Given the description of an element on the screen output the (x, y) to click on. 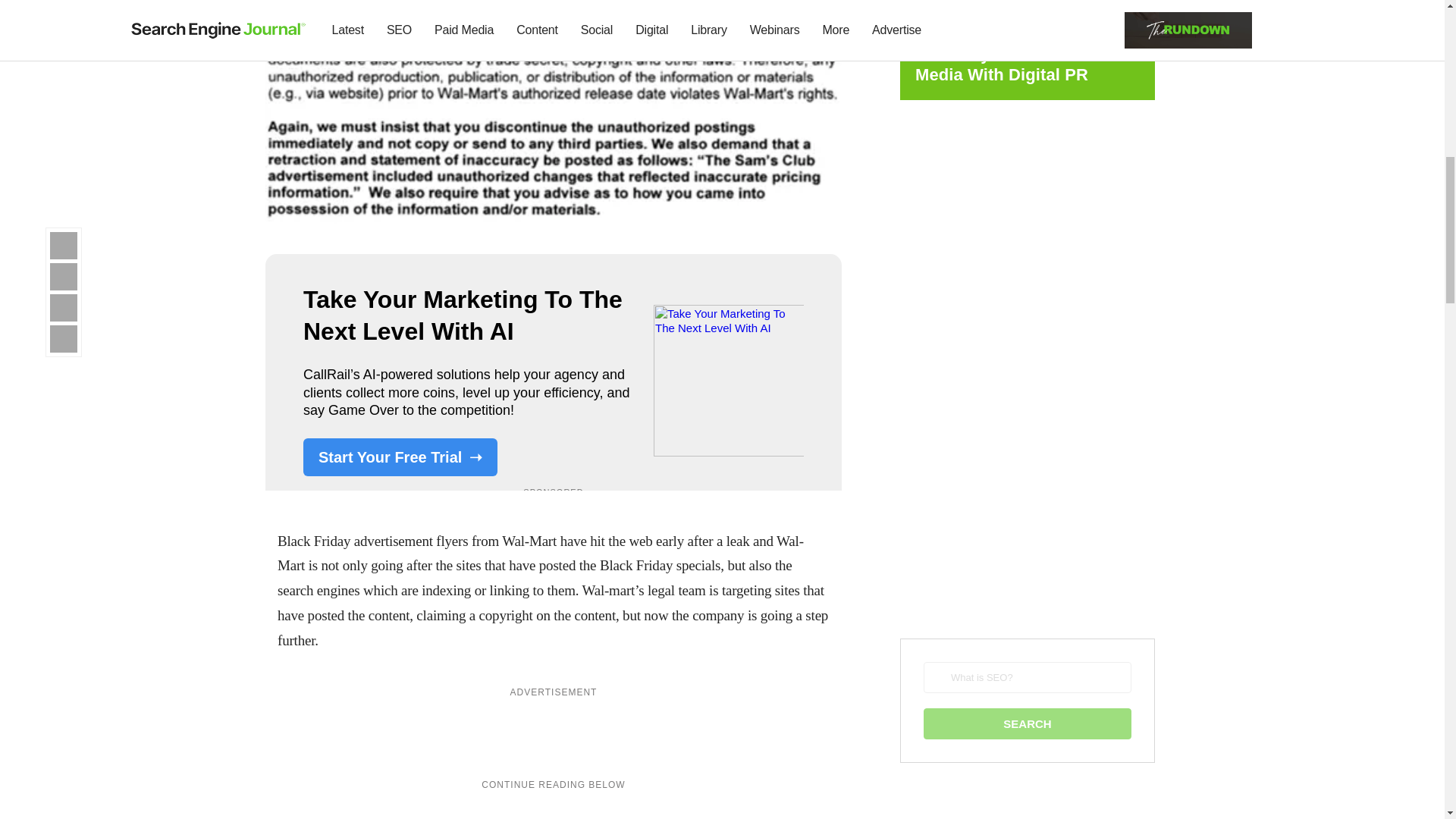
SEARCH (1027, 723)
SEARCH (1027, 723)
